Given the description of an element on the screen output the (x, y) to click on. 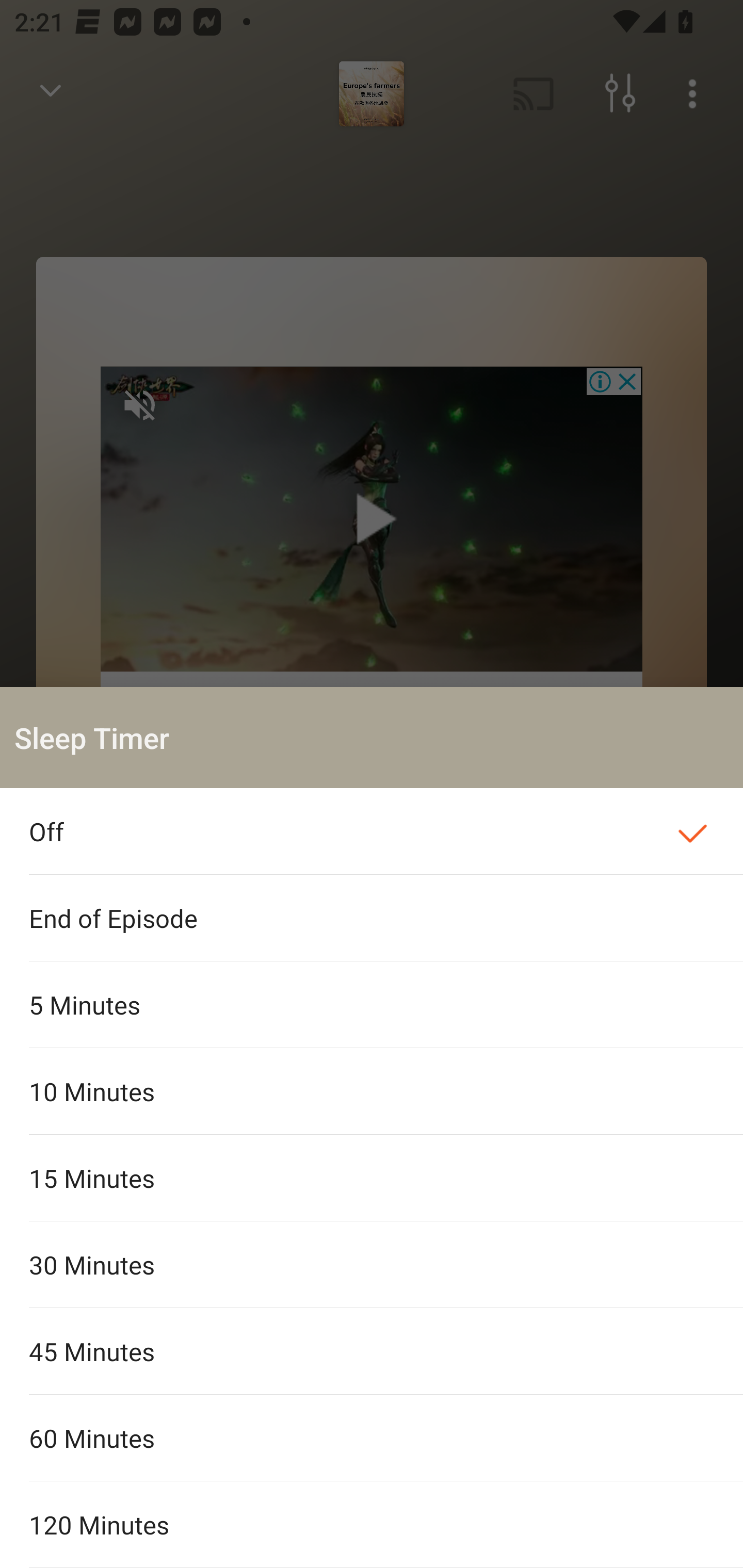
Off (371, 831)
End of Episode (371, 917)
5 Minutes (371, 1004)
10 Minutes (371, 1091)
15 Minutes (371, 1178)
30 Minutes (371, 1264)
45 Minutes (371, 1350)
60 Minutes (371, 1437)
120 Minutes (371, 1524)
